Given the description of an element on the screen output the (x, y) to click on. 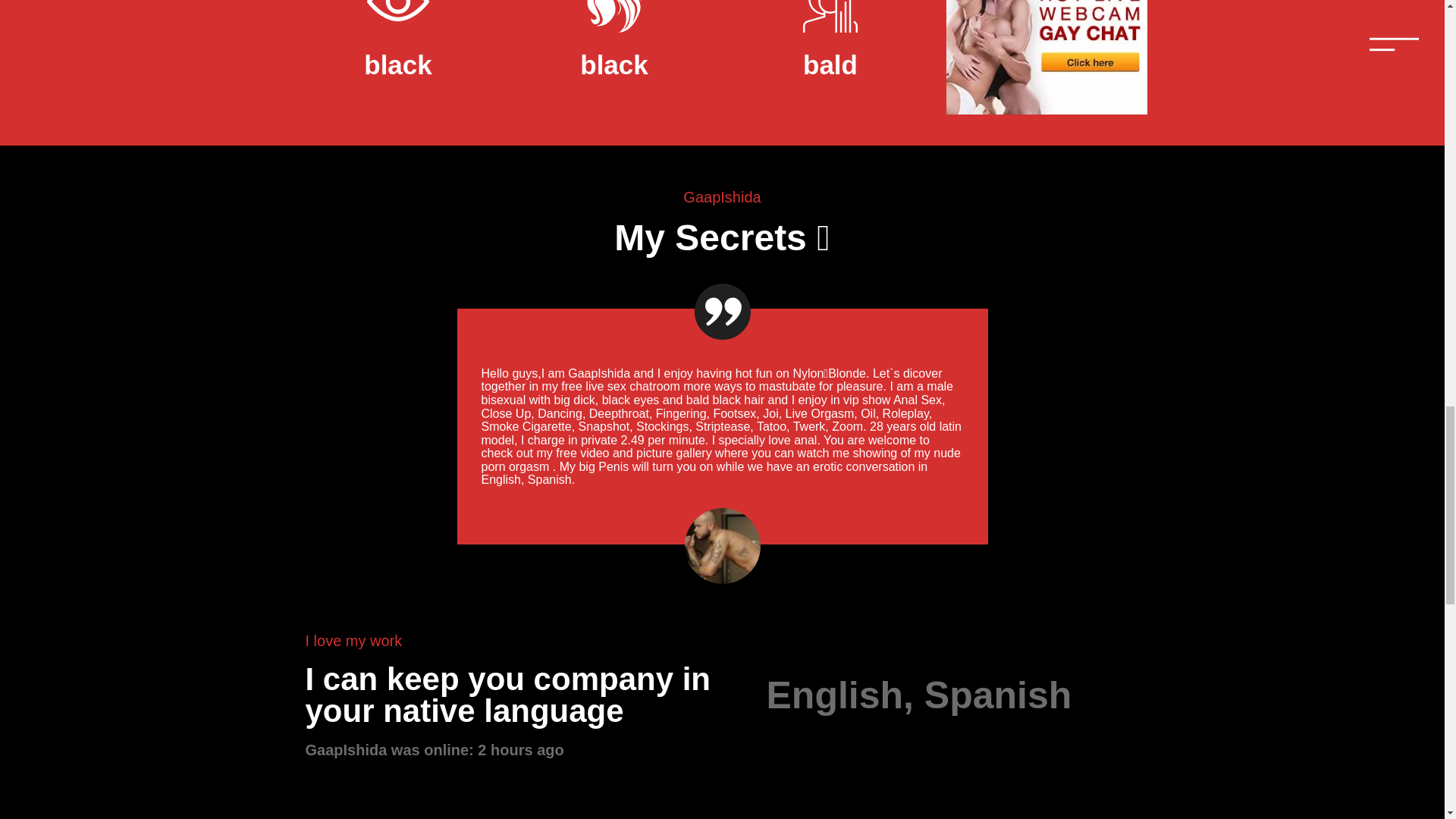
Gays (1046, 110)
